Given the description of an element on the screen output the (x, y) to click on. 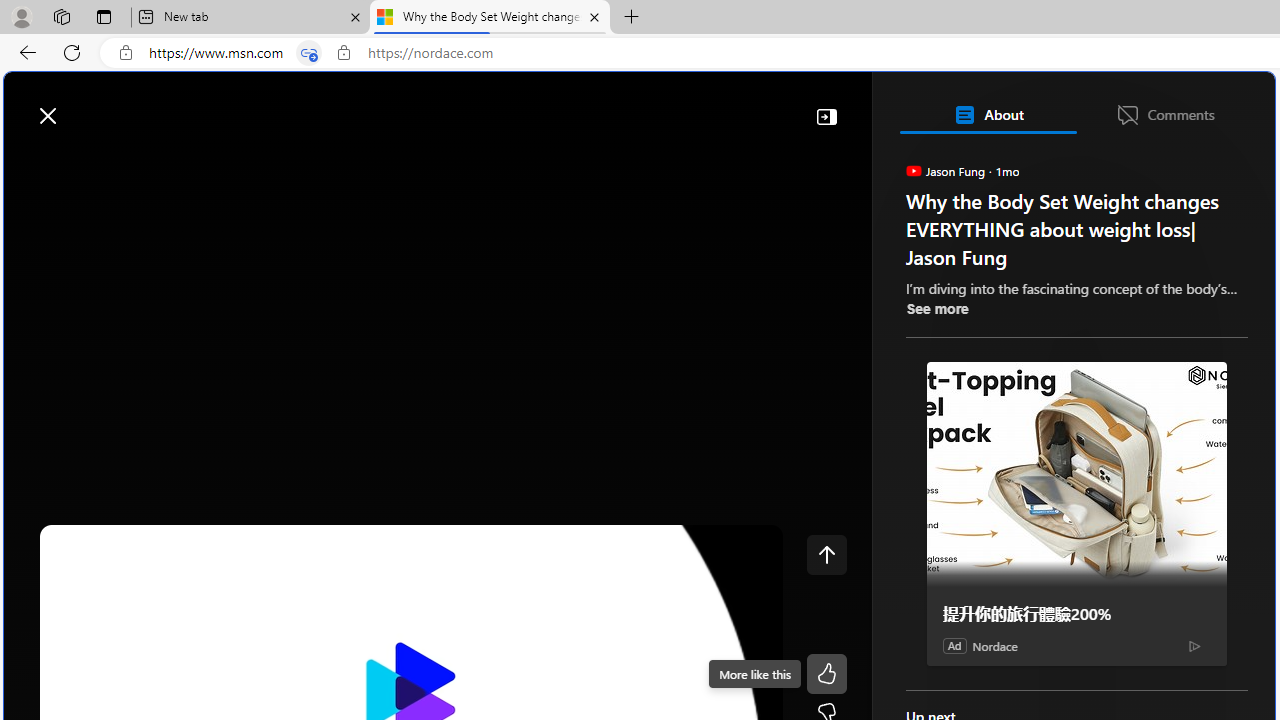
Personalize (1195, 162)
Following (173, 162)
View site information (343, 53)
Ad (954, 645)
Open settings (1230, 105)
Watch (257, 162)
Notifications (1190, 105)
Open Copilot (995, 105)
Class: button-glyph (29, 162)
Comments (1165, 114)
See more (936, 308)
